Given the description of an element on the screen output the (x, y) to click on. 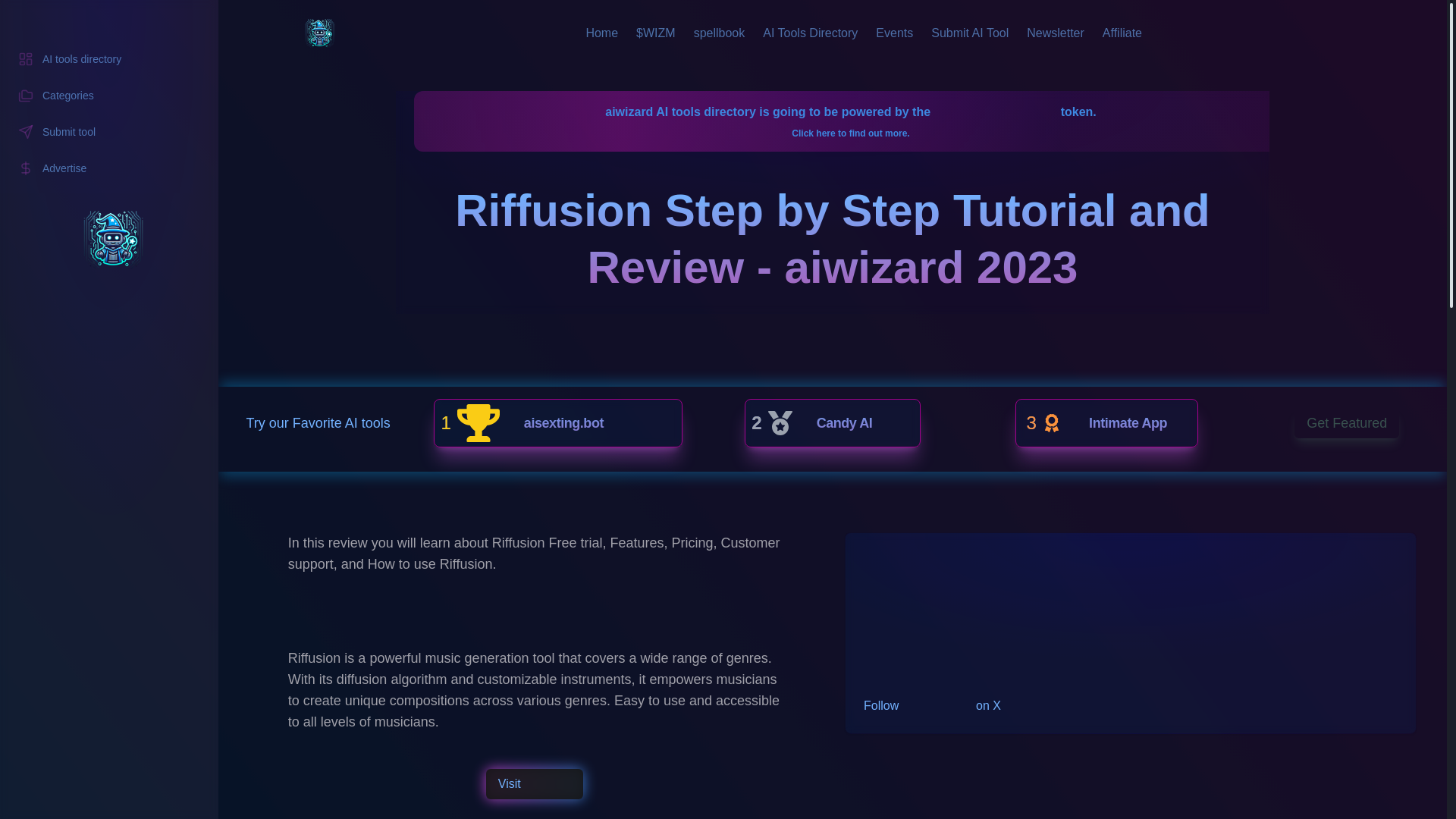
Submit tool (108, 131)
Advertise (108, 168)
Home (601, 32)
AI tools directory (108, 59)
Riffusion Features (912, 632)
Events (894, 32)
Riffusion Customer support (936, 668)
Categories (108, 95)
spellbook (832, 422)
Get Featured (719, 32)
AI Tools Directory (1346, 422)
Get Featured (1106, 422)
Newsletter (809, 32)
